Given the description of an element on the screen output the (x, y) to click on. 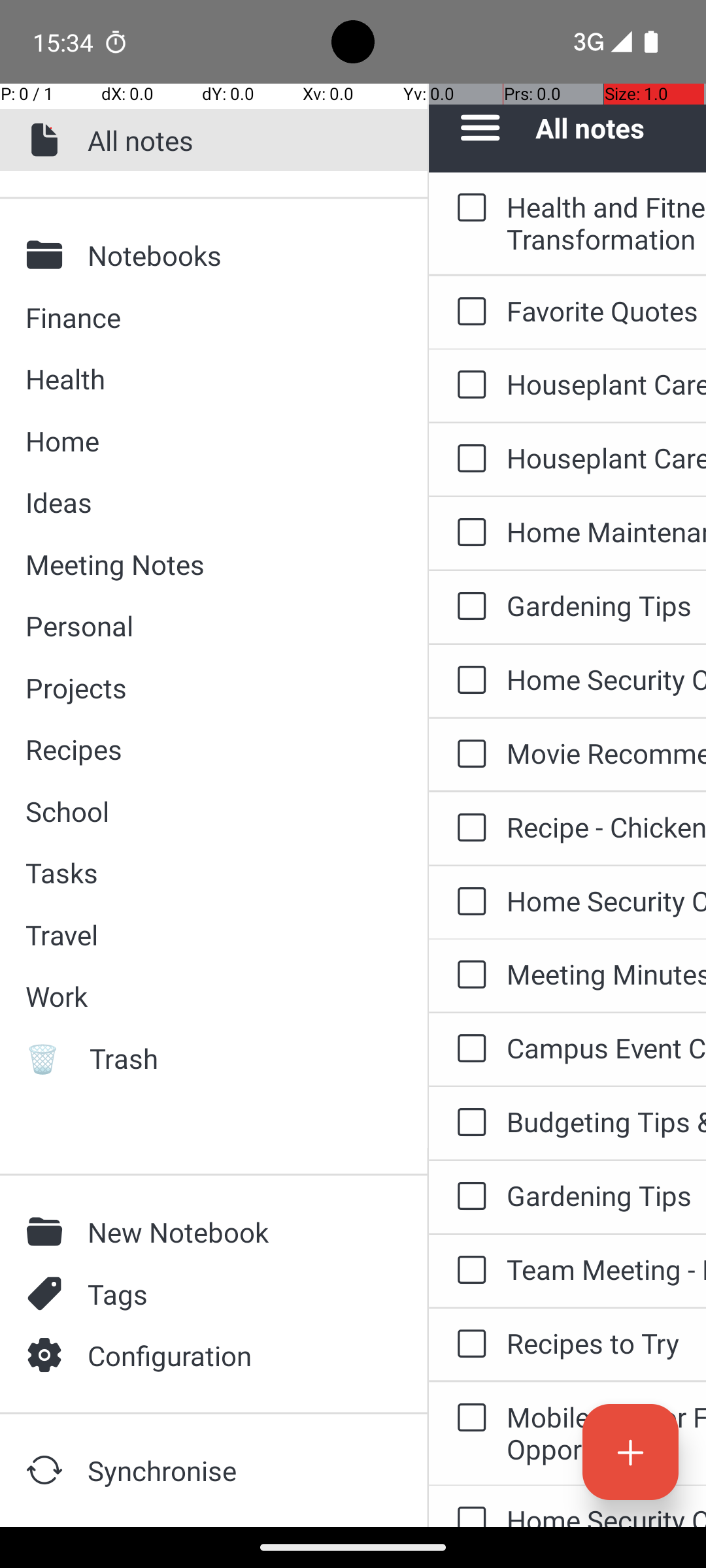
 Element type: android.widget.TextView (47, 254)
Notebooks Element type: android.widget.TextView (235, 254)
 Element type: android.widget.TextView (47, 1231)
New Notebook Element type: android.widget.TextView (235, 1231)
 Element type: android.widget.TextView (47, 1293)
 Element type: android.widget.TextView (47, 1354)
Configuration Element type: android.widget.TextView (235, 1354)
 Element type: android.widget.TextView (47, 1469)
Synchronise Element type: android.widget.TextView (235, 1469)
to-do: Health and Fitness Challenge - 30-Day Transformation Element type: android.widget.CheckBox (467, 208)
Health and Fitness Challenge - 30-Day Transformation Element type: android.widget.TextView (606, 222)
to-do: Favorite Quotes Element type: android.widget.CheckBox (467, 312)
Favorite Quotes Element type: android.widget.TextView (606, 310)
to-do: Houseplant Care Guide Element type: android.widget.CheckBox (467, 385)
Houseplant Care Guide Element type: android.widget.TextView (606, 383)
to-do: Gardening Tips Element type: android.widget.CheckBox (467, 606)
Gardening Tips Element type: android.widget.TextView (606, 604)
to-do: Home Security Checklist Element type: android.widget.CheckBox (467, 680)
Home Security Checklist Element type: android.widget.TextView (606, 678)
to-do: Movie Recommendations Element type: android.widget.CheckBox (467, 754)
Movie Recommendations Element type: android.widget.TextView (606, 752)
to-do: Recipe - Chicken Noodle Soup Element type: android.widget.CheckBox (467, 828)
Recipe - Chicken Noodle Soup Element type: android.widget.TextView (606, 826)
to-do: Meeting Minutes - Weekly Team Update Element type: android.widget.CheckBox (467, 975)
to-do: Campus Event Calendar Element type: android.widget.CheckBox (467, 1049)
Campus Event Calendar Element type: android.widget.TextView (606, 1047)
to-do: Team Meeting - May 6, 2024 Element type: android.widget.CheckBox (467, 1270)
Team Meeting - May 6, 2024 Element type: android.widget.TextView (606, 1268)
to-do: Recipes to Try Element type: android.widget.CheckBox (467, 1344)
Recipes to Try Element type: android.widget.TextView (606, 1342)
to-do: Mobile App for Finding Local Volunteer Opportunities Element type: android.widget.CheckBox (467, 1418)
 Element type: android.widget.TextView (47, 139)
🗑️ Element type: android.widget.TextView (48, 1057)
